Given the description of an element on the screen output the (x, y) to click on. 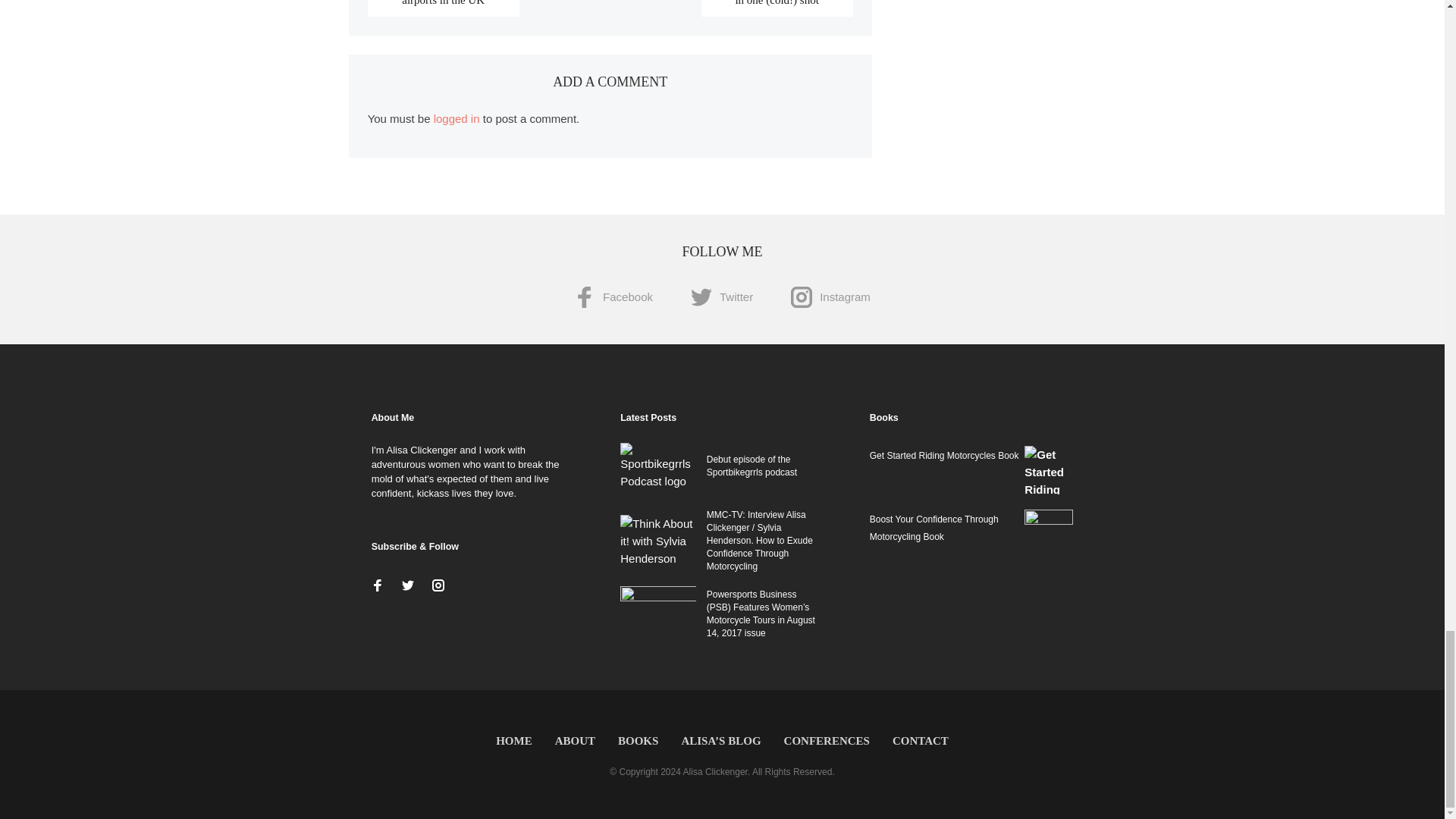
logged in (456, 118)
Reasons to love the airports in the UK (442, 2)
